Given the description of an element on the screen output the (x, y) to click on. 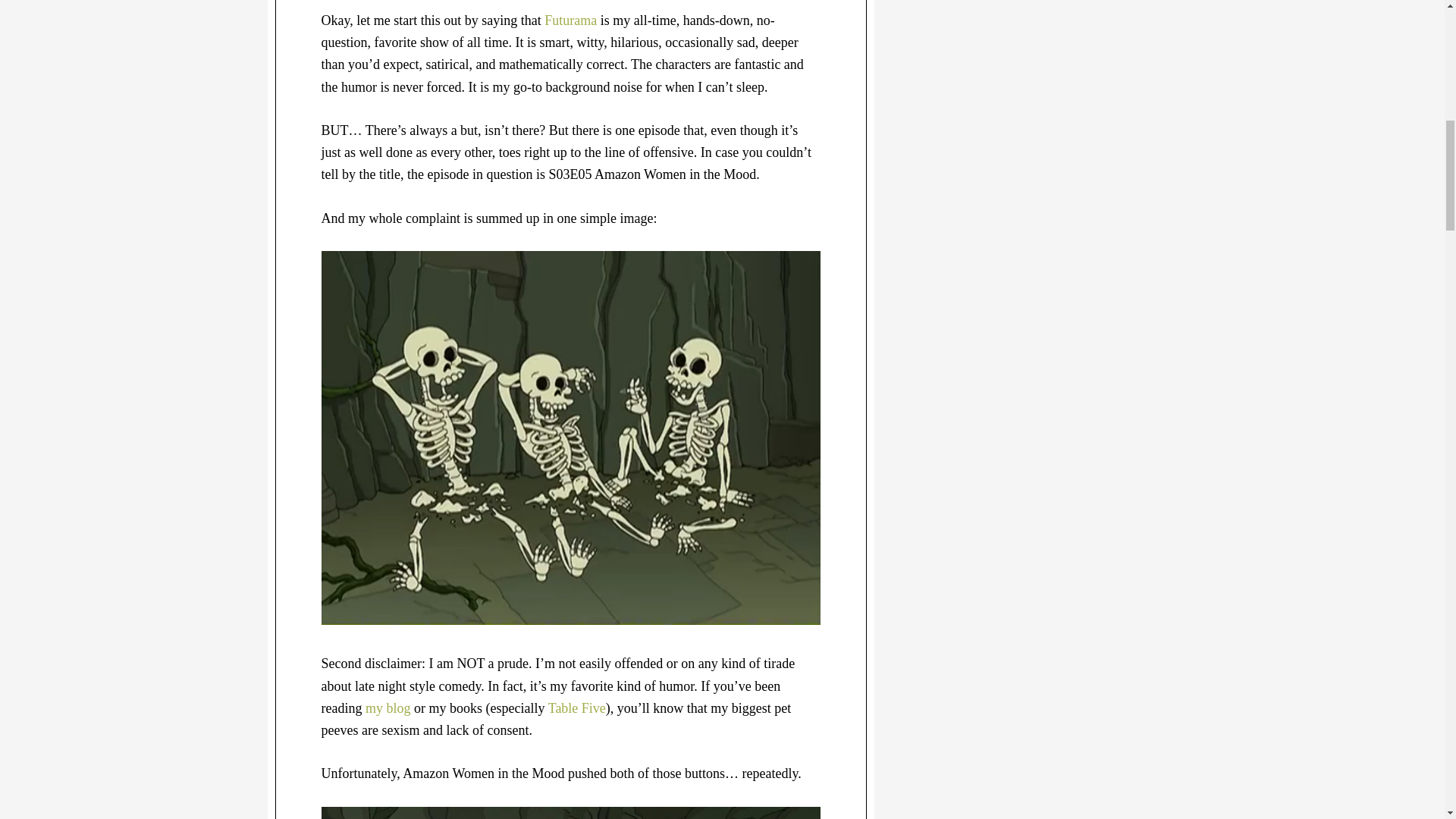
Table Five (576, 708)
Futurama (570, 20)
my blog (387, 708)
